Given the description of an element on the screen output the (x, y) to click on. 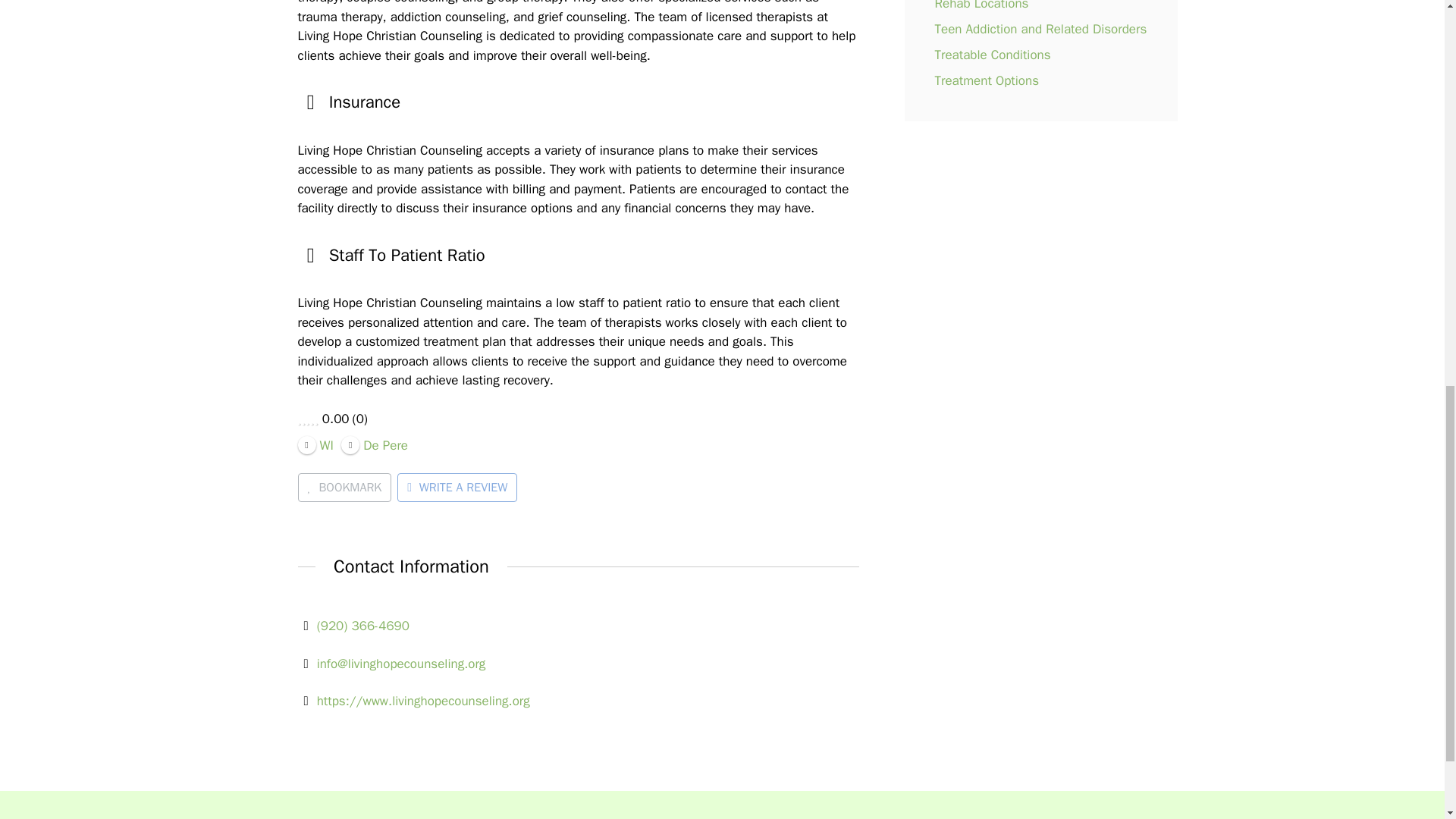
WI (315, 444)
De Pere (373, 444)
